Given the description of an element on the screen output the (x, y) to click on. 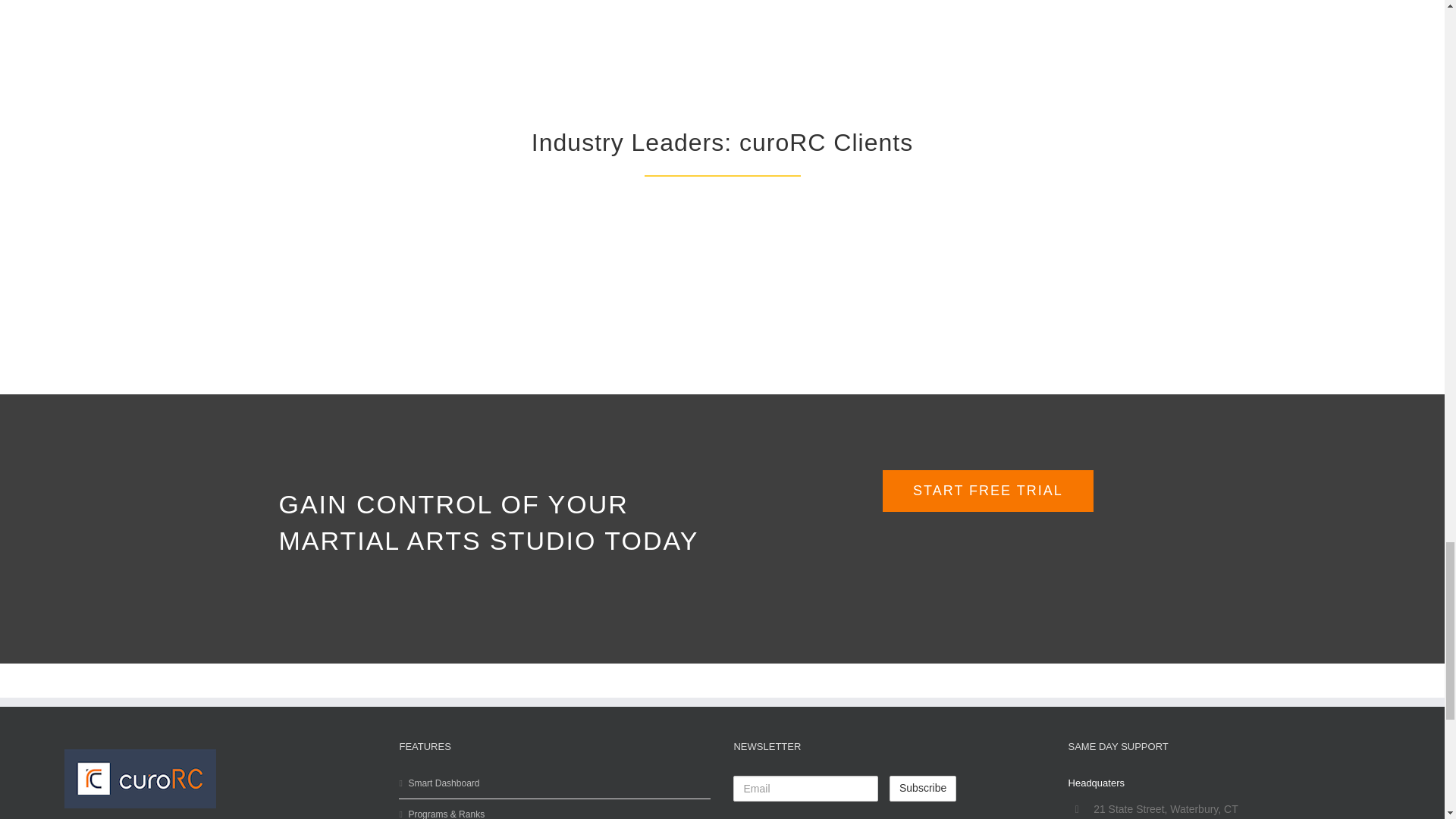
sign up (987, 490)
Subscribe (922, 788)
